Given the description of an element on the screen output the (x, y) to click on. 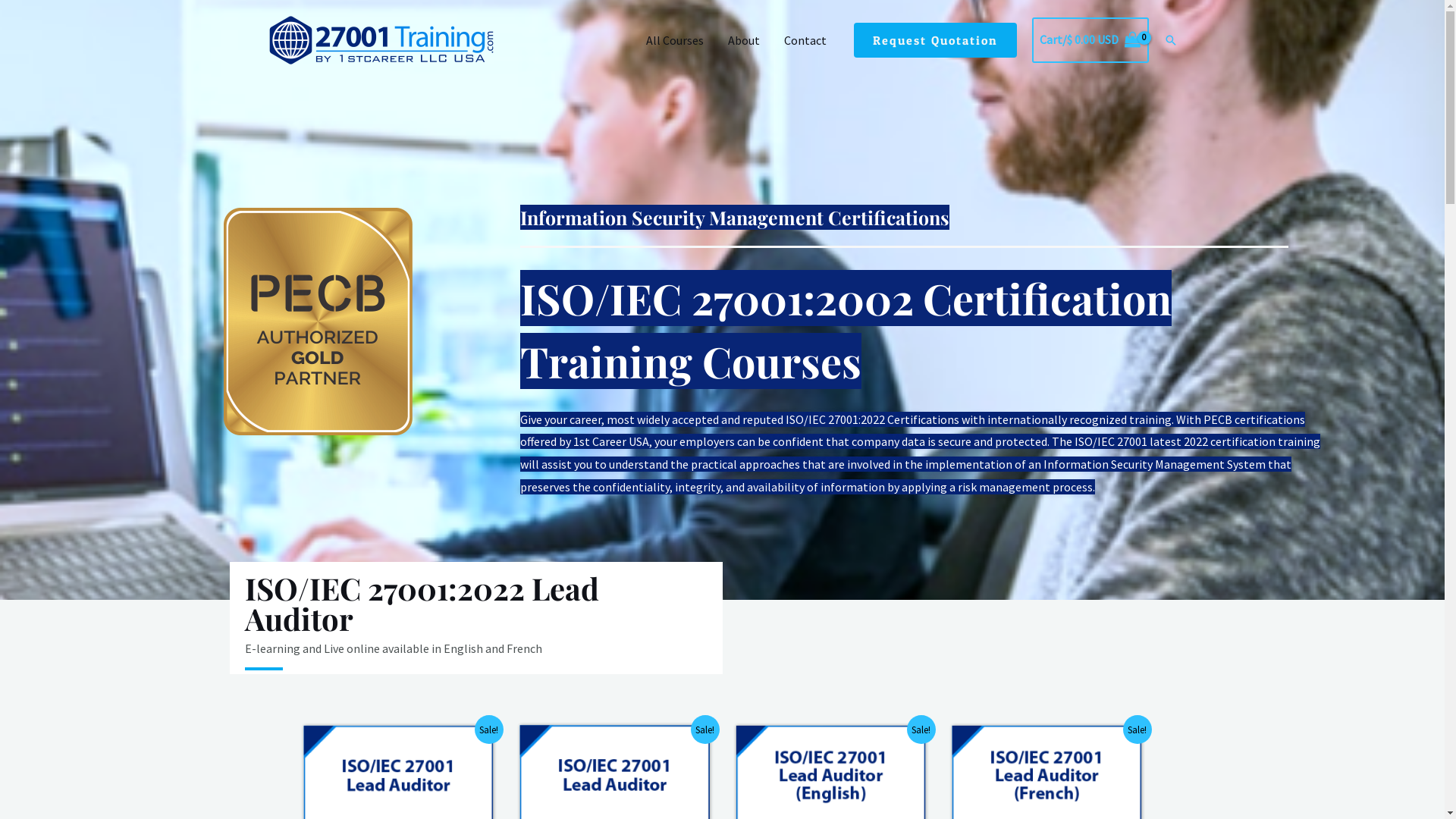
Cart/$ 0.00 USD Element type: text (1090, 39)
About Element type: text (743, 39)
Contact Element type: text (804, 39)
Search Element type: text (1169, 40)
All Courses Element type: text (674, 39)
Request Quotation Element type: text (934, 39)
